Given the description of an element on the screen output the (x, y) to click on. 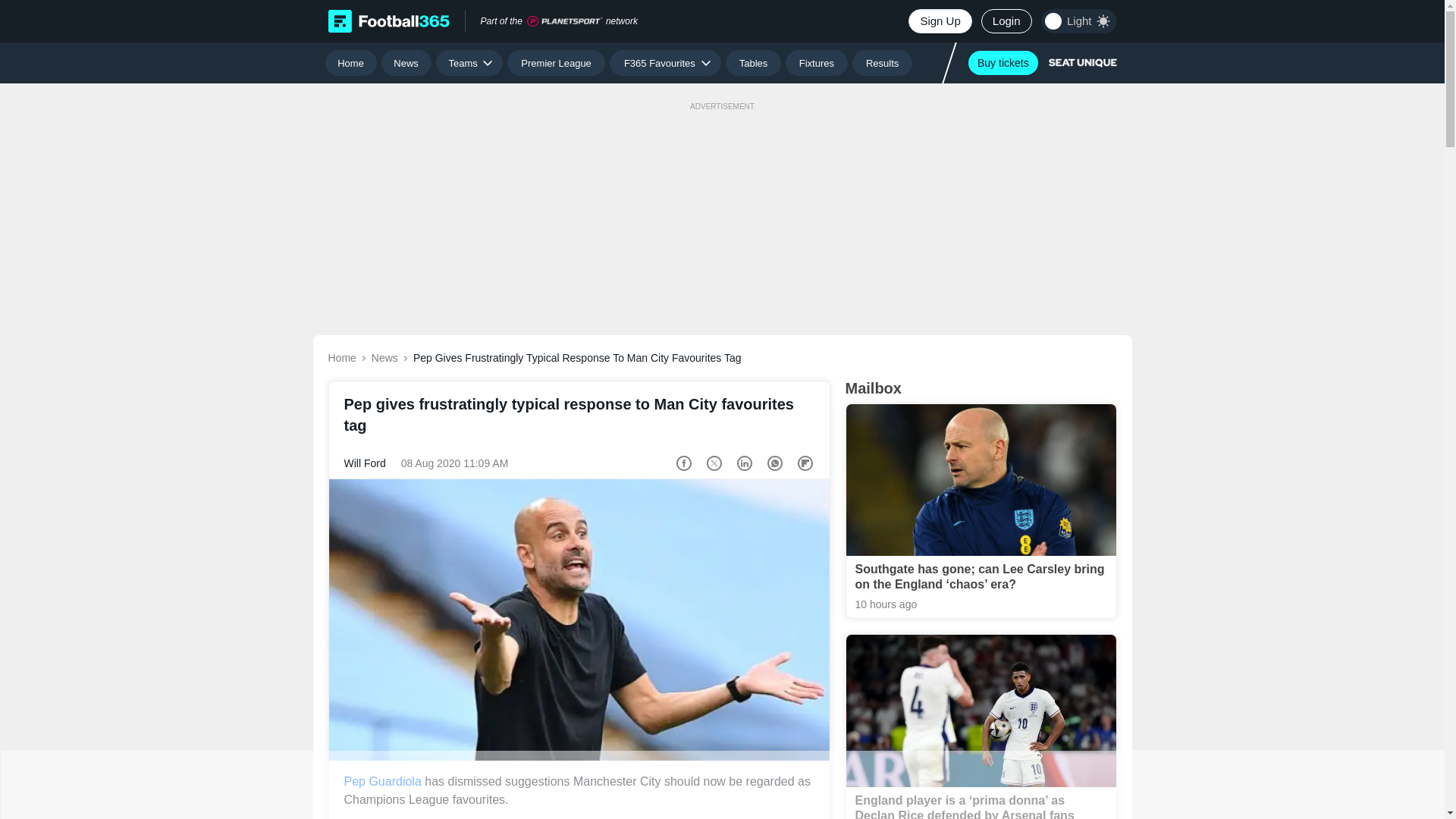
Teams (468, 62)
3rd party ad content (721, 785)
Tables (752, 62)
Sign Up (939, 21)
Login (1006, 21)
Results (881, 62)
F365 Favourites (665, 62)
Fixtures (817, 62)
News (405, 62)
Premier League (555, 62)
Home (349, 62)
